Given the description of an element on the screen output the (x, y) to click on. 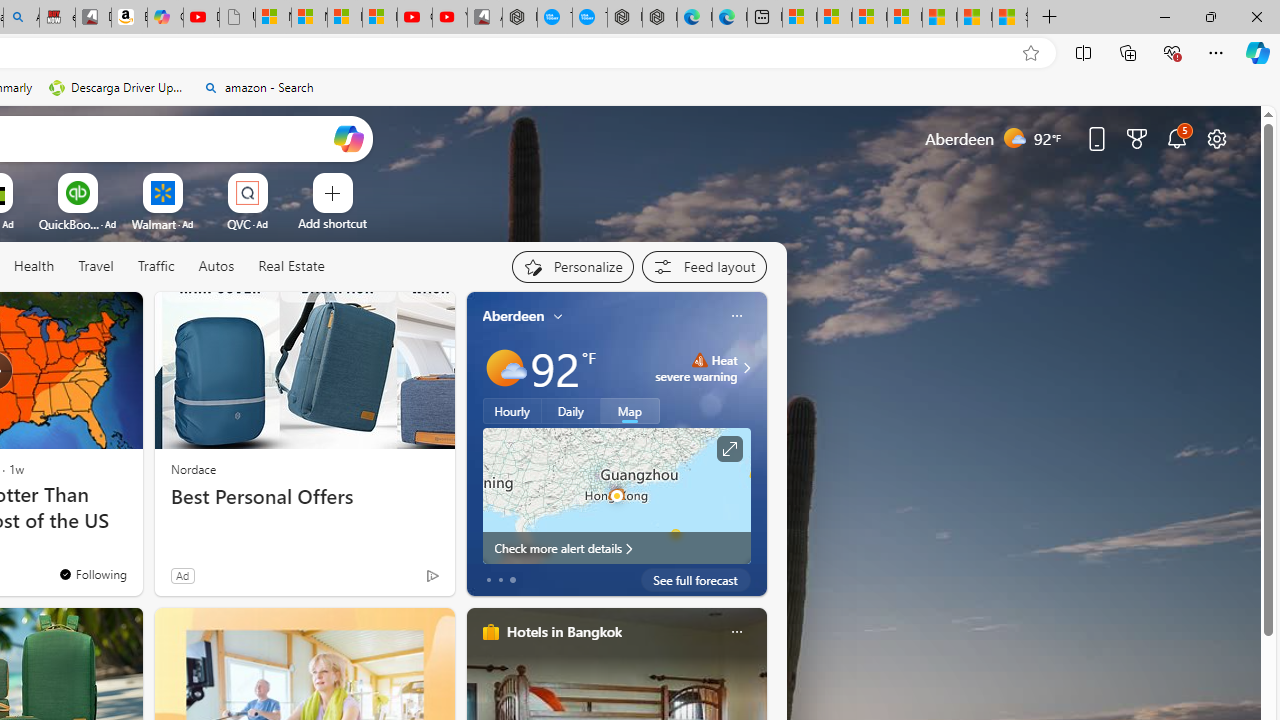
Nordace - My Account (520, 17)
Health (33, 267)
Microsoft account | Microsoft Account Privacy Settings (834, 17)
Descarga Driver Updater (118, 88)
See full forecast (695, 579)
Restore (1210, 16)
amazon - Search (258, 88)
tab-2 (511, 579)
